Given the description of an element on the screen output the (x, y) to click on. 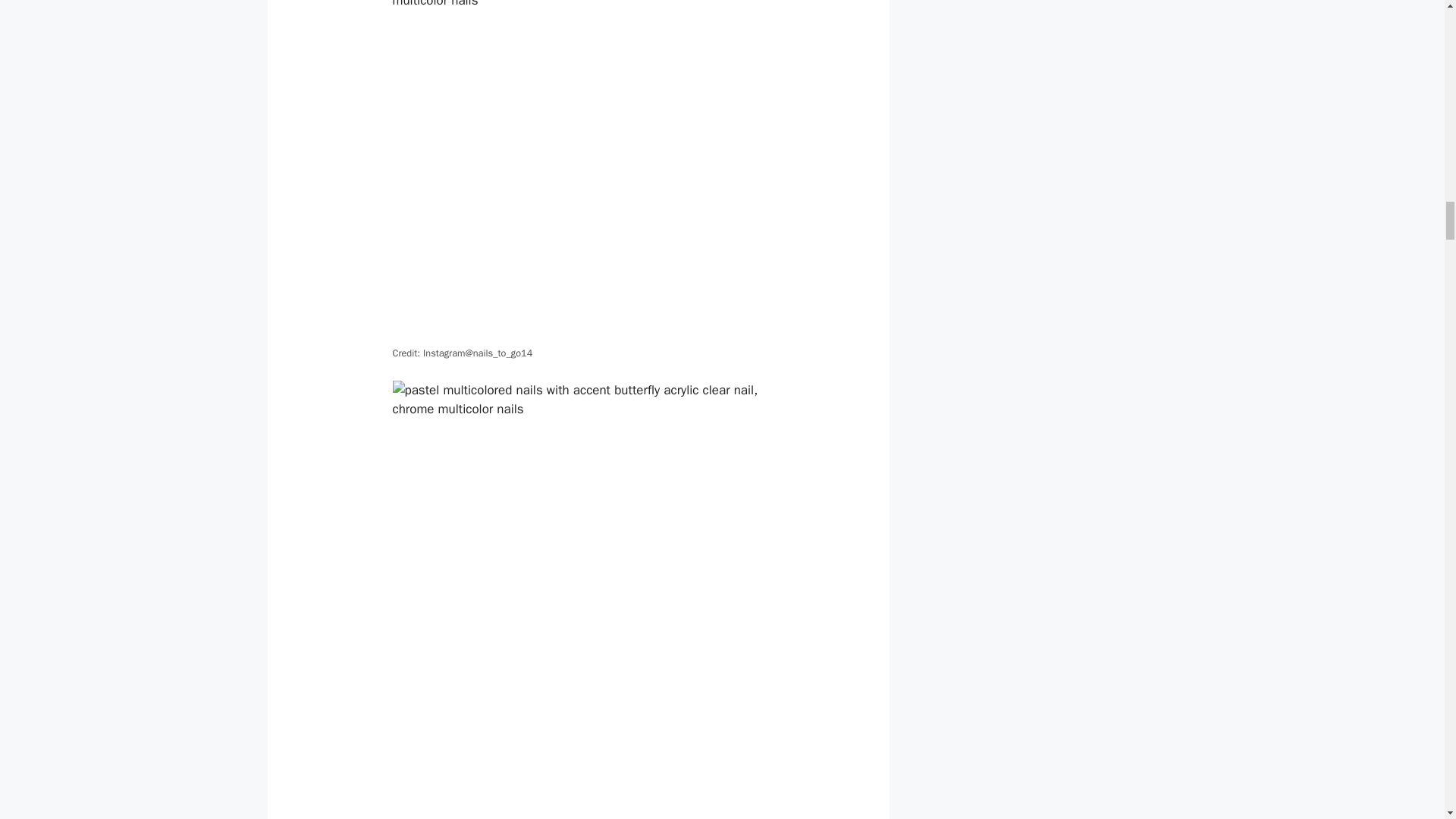
pastel multicolored acrylic nails short for spring 2020 (578, 171)
